Given the description of an element on the screen output the (x, y) to click on. 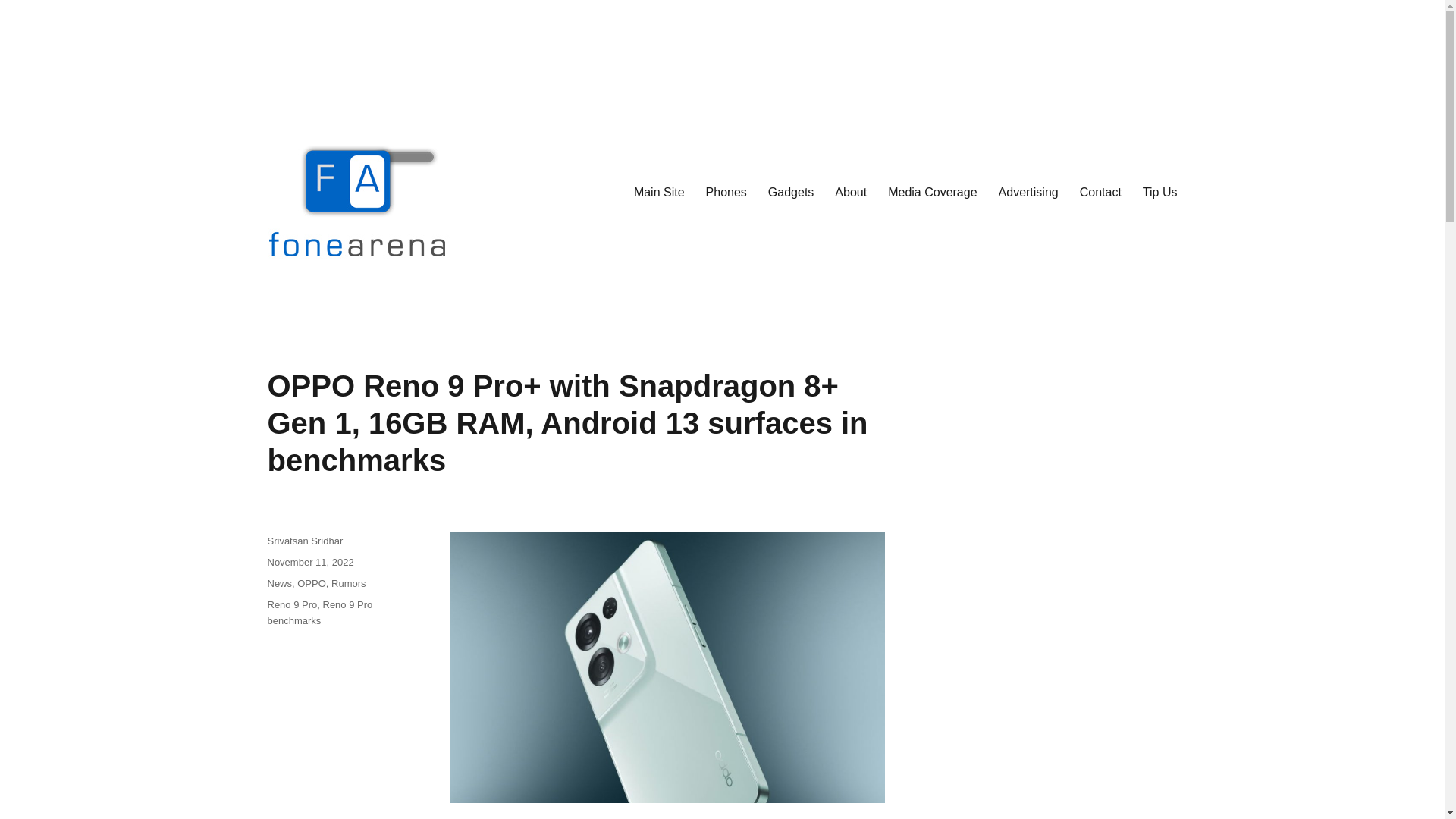
Reno 9 Pro (291, 604)
Advertising (1028, 192)
Reno 9 Pro benchmarks (319, 612)
Fone Arena (324, 306)
Tip Us (1160, 192)
OPPO (311, 583)
Phones (726, 192)
News (279, 583)
Srivatsan Sridhar (304, 541)
Main Site (659, 192)
